Given the description of an element on the screen output the (x, y) to click on. 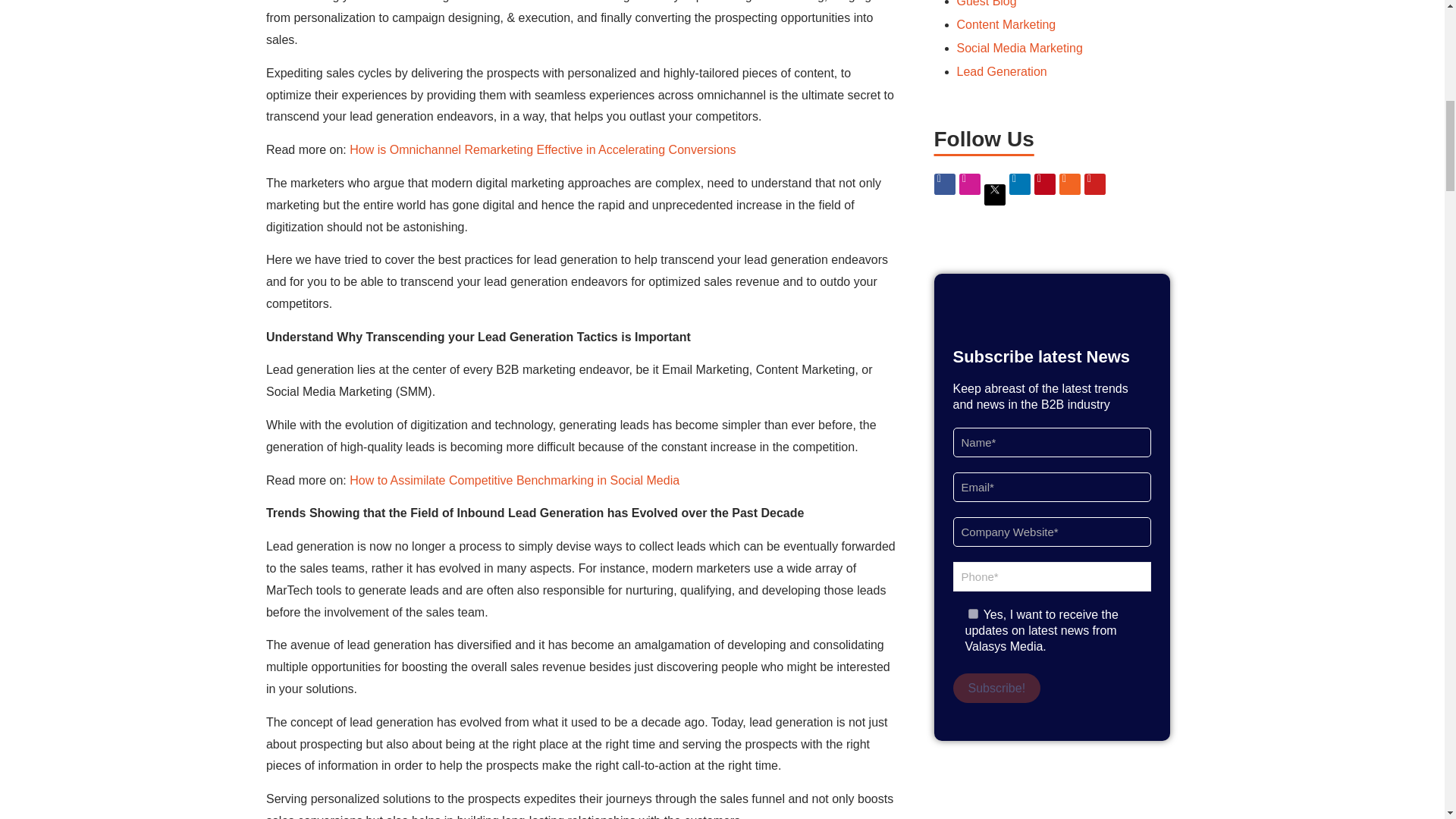
Subscribe! (996, 687)
How to Assimilate Competitive Benchmarking in Social Media (514, 480)
1 (972, 614)
